Given the description of an element on the screen output the (x, y) to click on. 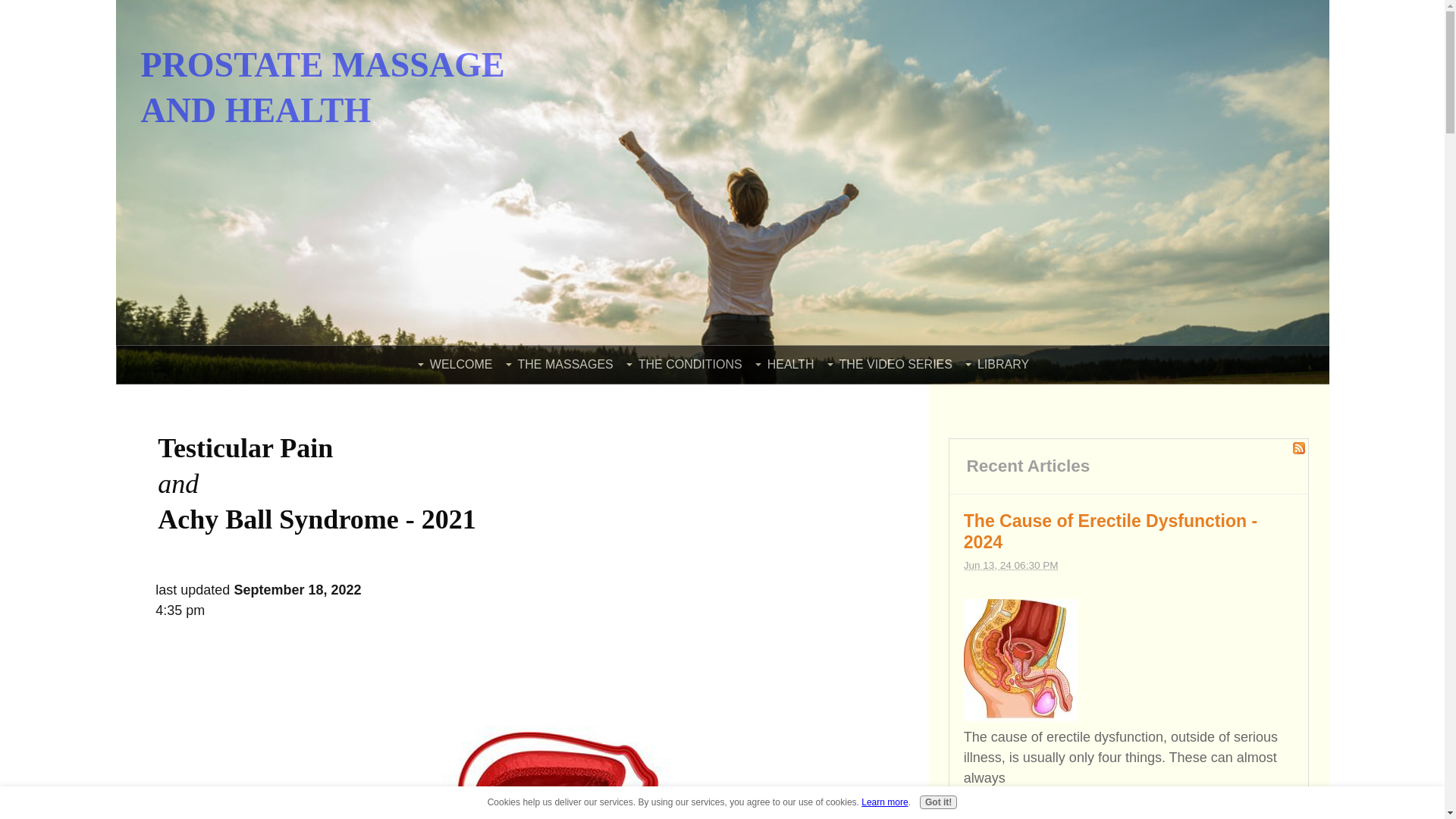
PROSTATE MASSAGE AND HEALTH (323, 87)
testicular pain and achy ball syndrome (516, 764)
2024-06-13T18:30:23-0400 (1010, 564)
